Given the description of an element on the screen output the (x, y) to click on. 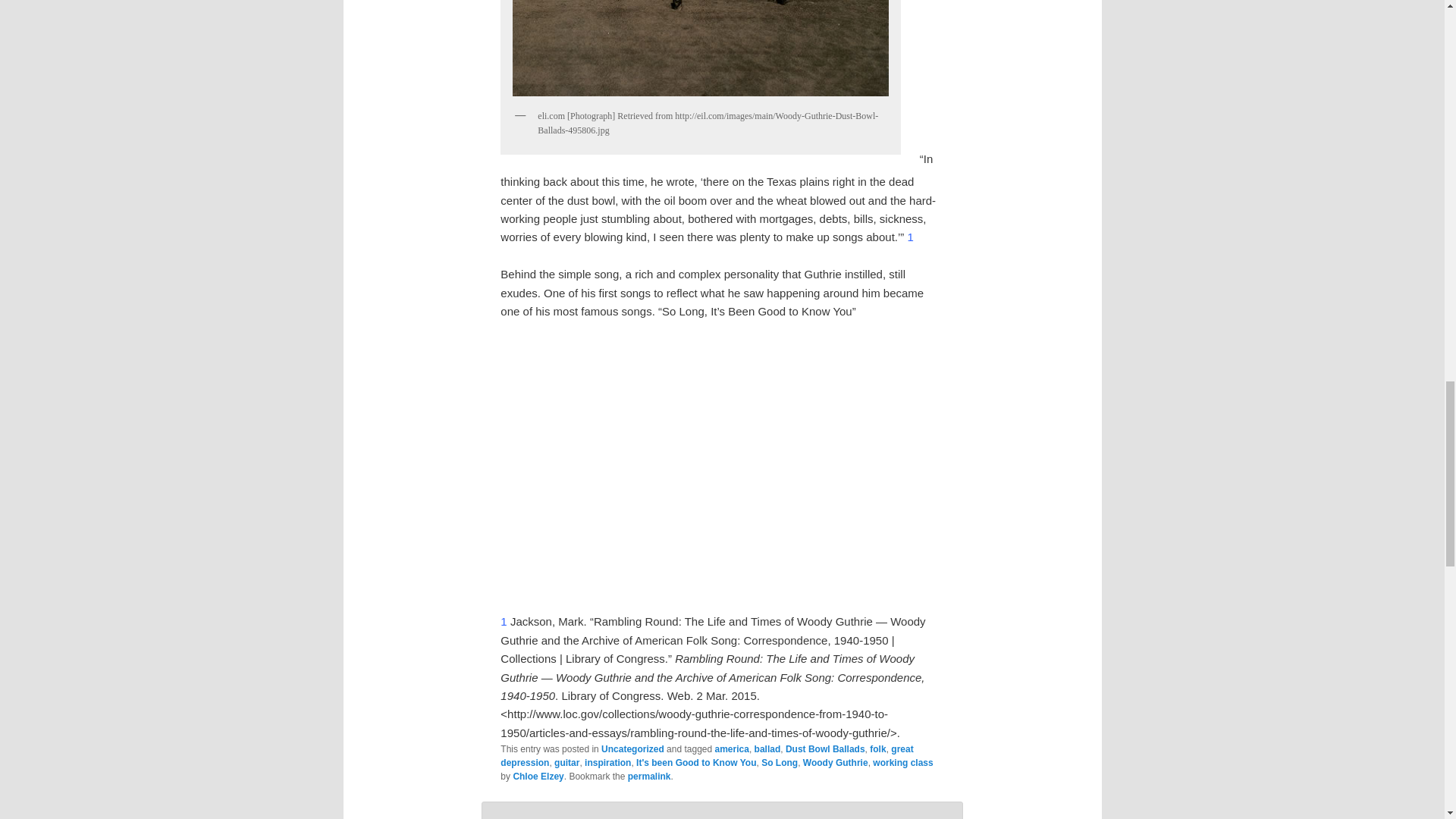
Woody Guthrie (835, 762)
Uncategorized (632, 748)
It's been Good to Know You (695, 762)
america (731, 748)
great depression (706, 755)
ballad (767, 748)
folk (877, 748)
guitar (566, 762)
inspiration (607, 762)
Dust Bowl Ballads (825, 748)
